Given the description of an element on the screen output the (x, y) to click on. 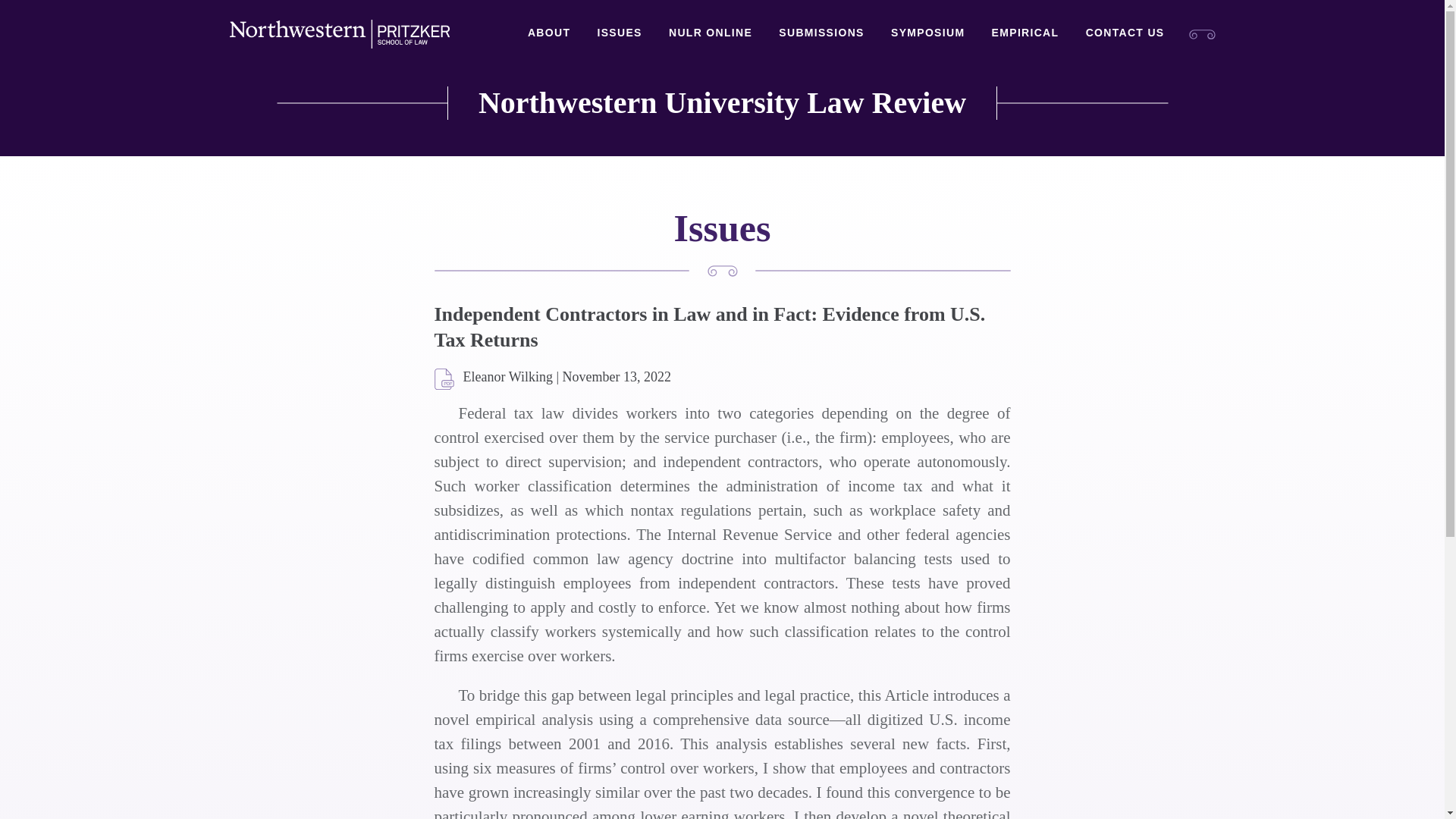
ISSUES (619, 32)
CONTACT US (1125, 32)
Northwestern University Law Review (722, 102)
ABOUT (548, 32)
Northwestern University Law Review (722, 102)
SUBMISSIONS (820, 32)
Northwestern Pritzker School of Law (338, 34)
SYMPOSIUM (927, 32)
NULR ONLINE (710, 32)
